Given the description of an element on the screen output the (x, y) to click on. 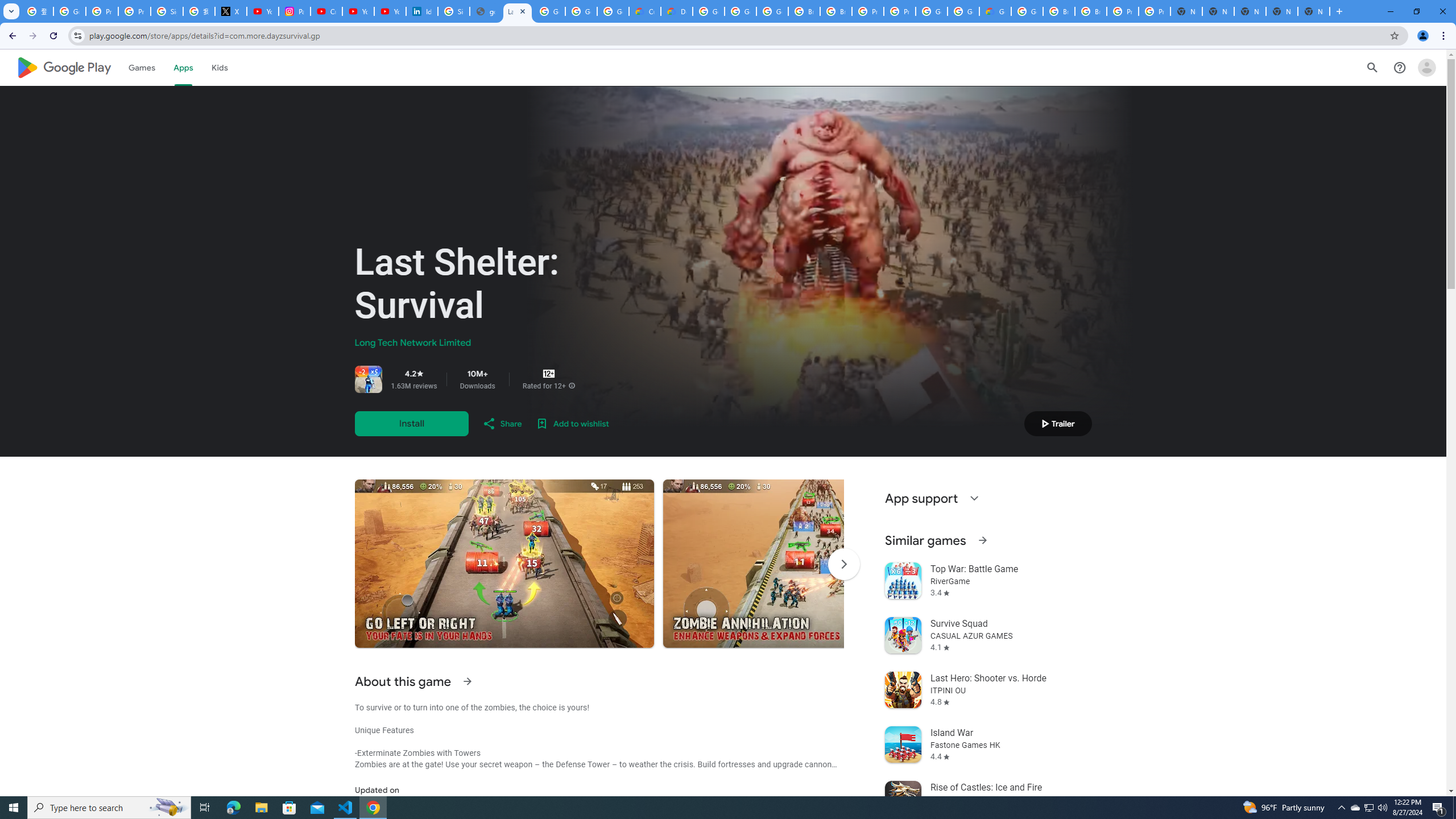
Google Cloud Platform (708, 11)
Browse Chrome as a guest - Computer - Google Chrome Help (836, 11)
Google Cloud Platform (931, 11)
Customer Care | Google Cloud (644, 11)
X (230, 11)
YouTube Content Monetization Policies - How YouTube Works (262, 11)
